Given the description of an element on the screen output the (x, y) to click on. 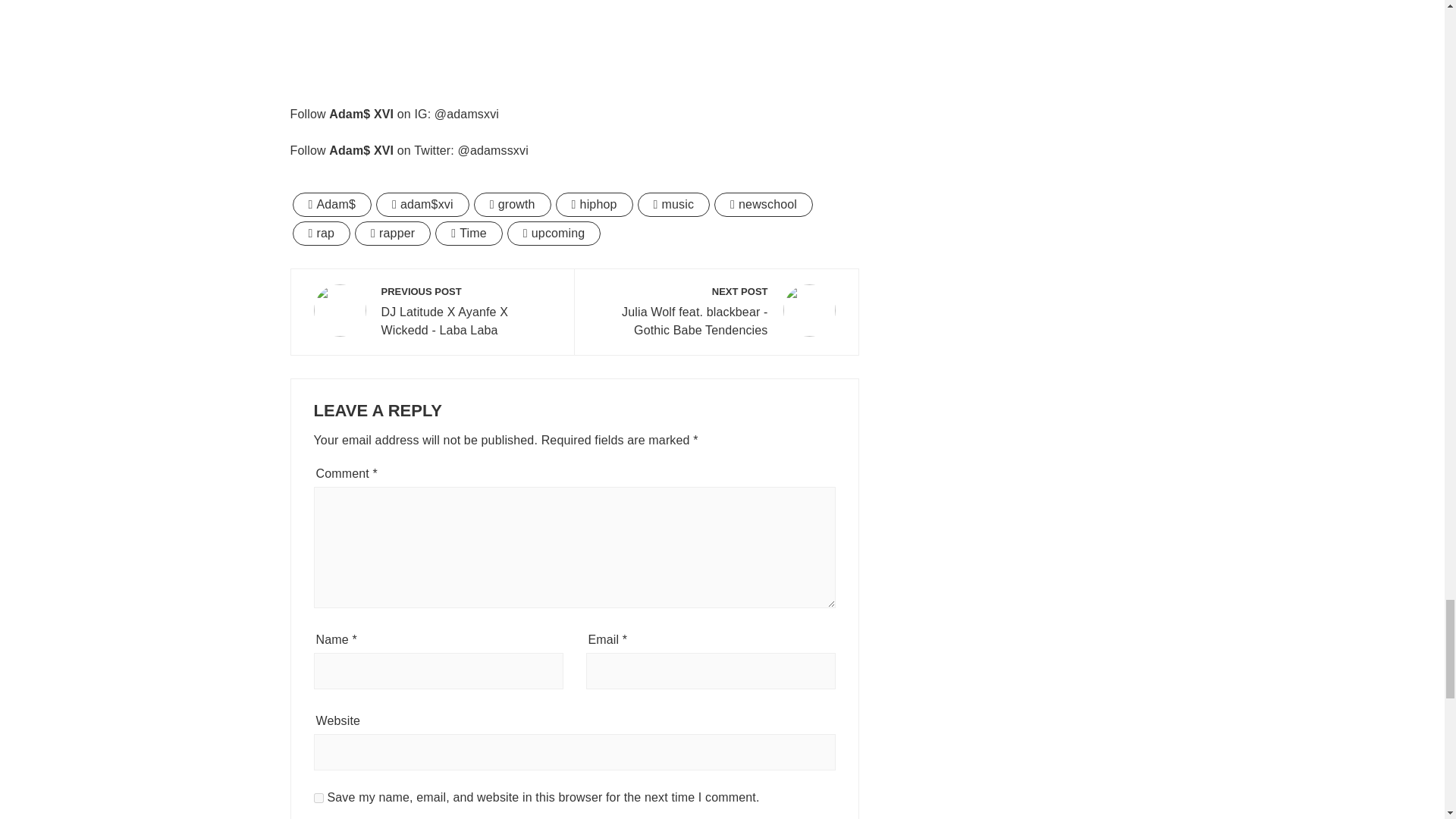
growth (512, 204)
hiphop (594, 204)
rap (432, 311)
upcoming (321, 233)
newschool (553, 233)
Time (763, 204)
For a While (468, 233)
music (574, 36)
rapper (673, 204)
yes (392, 233)
